Given the description of an element on the screen output the (x, y) to click on. 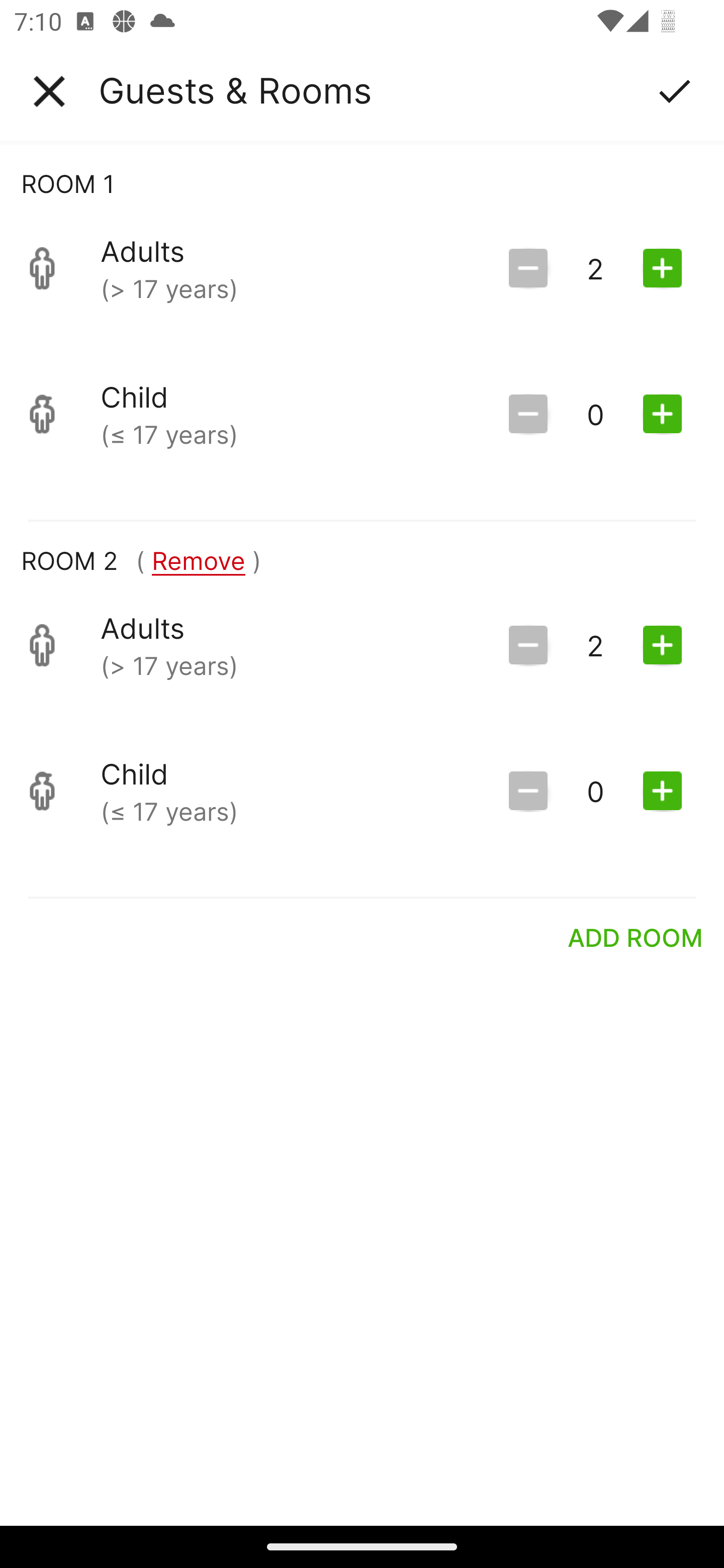
( Remove ) (198, 560)
ADD ROOM (635, 936)
